Given the description of an element on the screen output the (x, y) to click on. 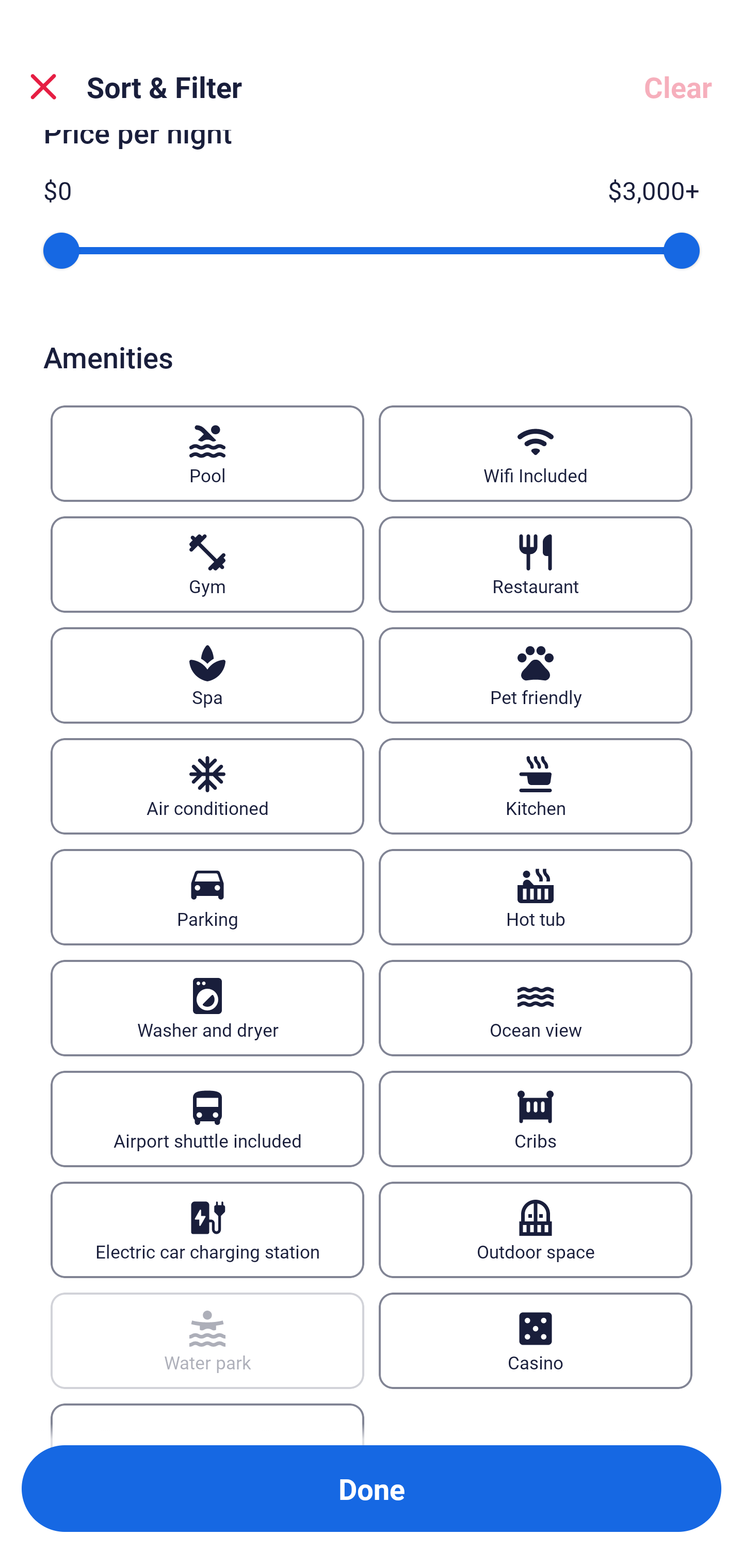
Close Sort and Filter (43, 86)
Clear (677, 86)
Pool (207, 453)
Wifi Included (535, 453)
Gym (207, 564)
Restaurant (535, 564)
Spa (207, 675)
Pet friendly (535, 675)
Air conditioned (207, 786)
Kitchen (535, 786)
Parking (207, 896)
Hot tub (535, 896)
Washer and dryer (207, 1007)
Ocean view (535, 1007)
Airport shuttle included (207, 1118)
Cribs (535, 1118)
Electric car charging station (207, 1229)
Outdoor space (535, 1229)
Water park (207, 1340)
Casino (535, 1340)
Apply and close Sort and Filter Done (371, 1488)
